Given the description of an element on the screen output the (x, y) to click on. 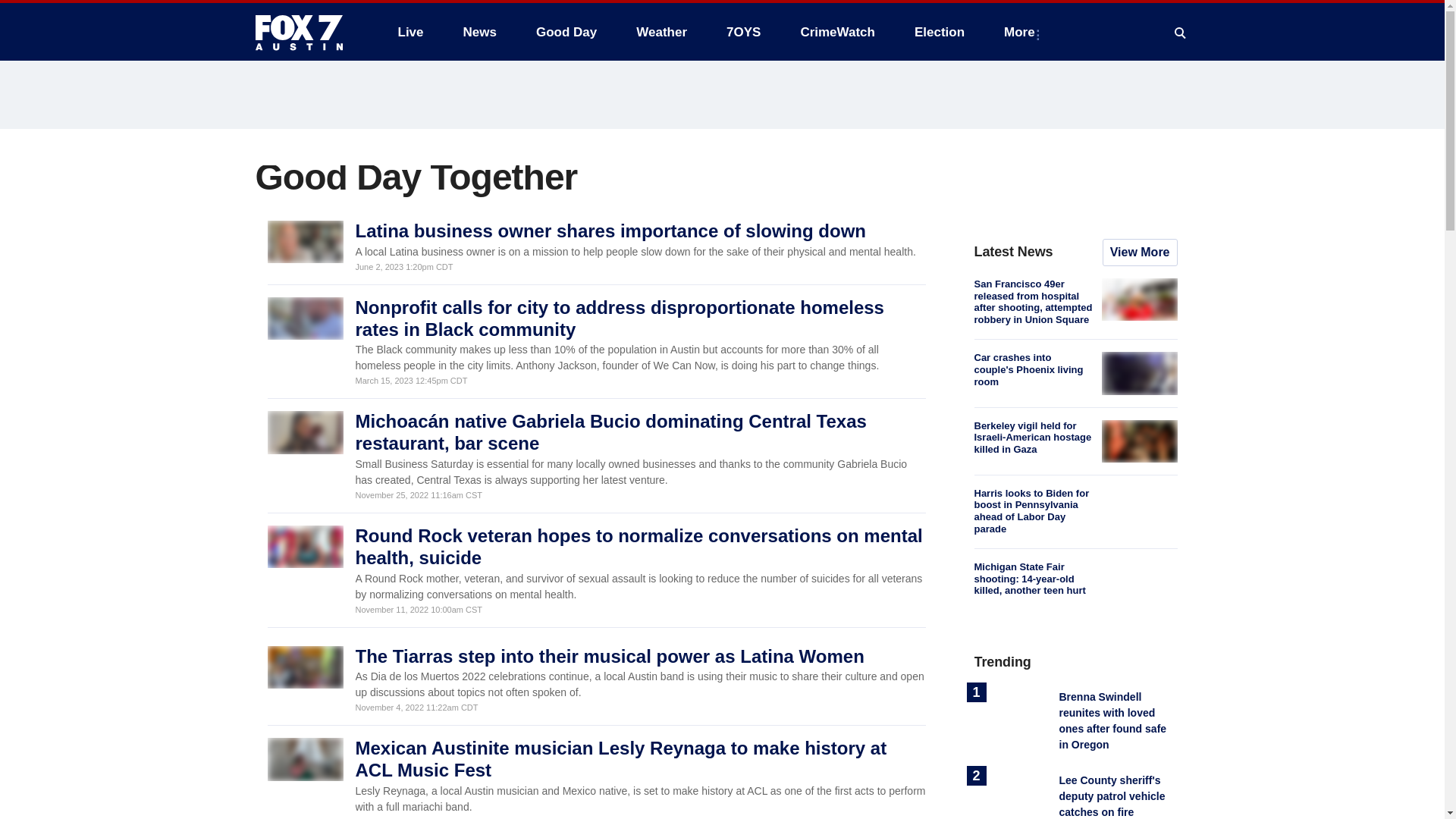
Election (939, 32)
More (1021, 32)
News (479, 32)
Live (410, 32)
7OYS (743, 32)
CrimeWatch (836, 32)
Good Day (566, 32)
Weather (661, 32)
